Given the description of an element on the screen output the (x, y) to click on. 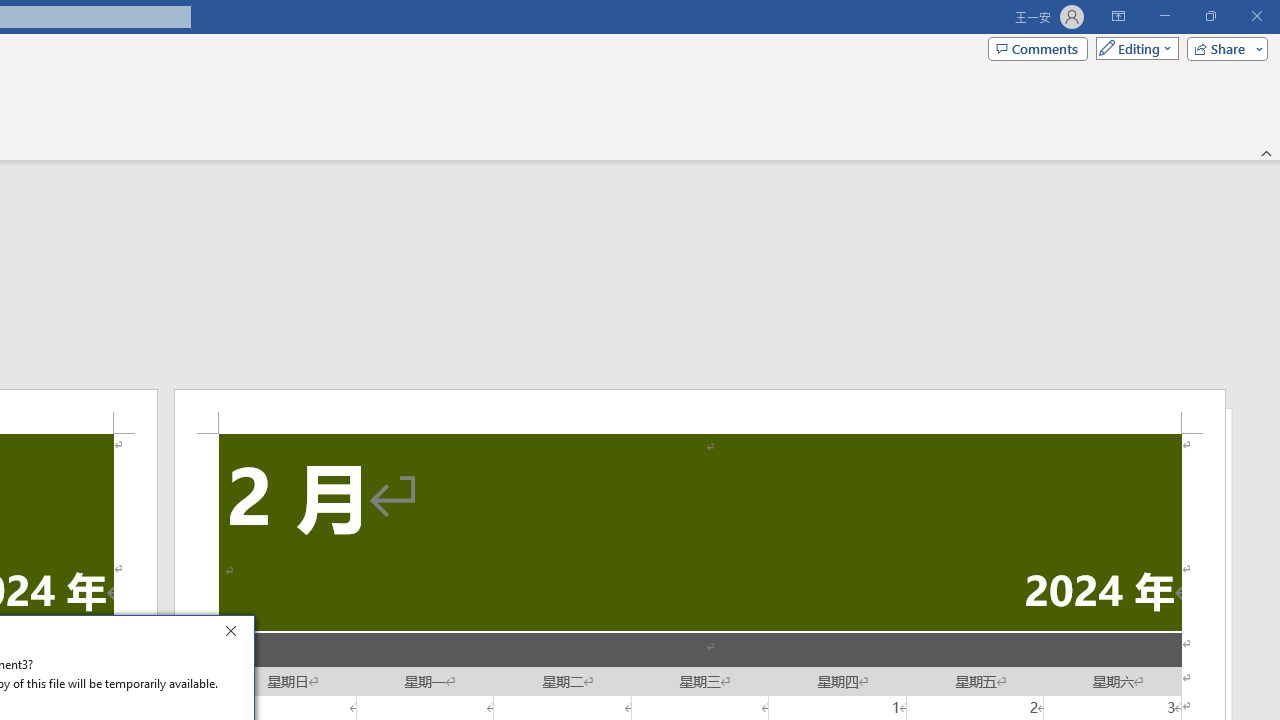
Mode (1133, 47)
Header -Section 2- (700, 411)
